Given the description of an element on the screen output the (x, y) to click on. 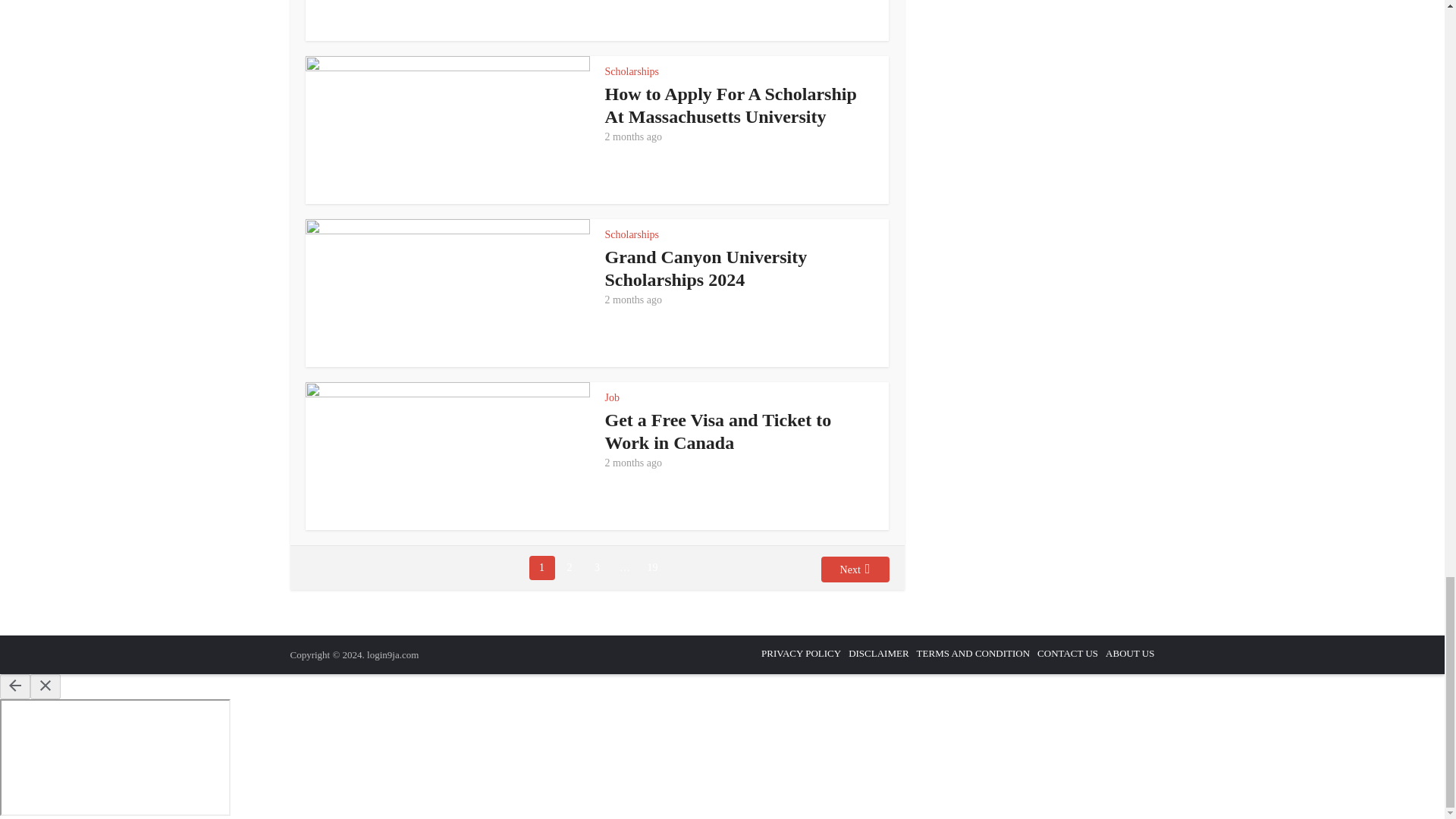
Scholarships (632, 234)
Scholarships (632, 71)
Grand Canyon University Scholarships 2024 (706, 268)
How to Apply For A Scholarship At Massachusetts University (731, 105)
